Given the description of an element on the screen output the (x, y) to click on. 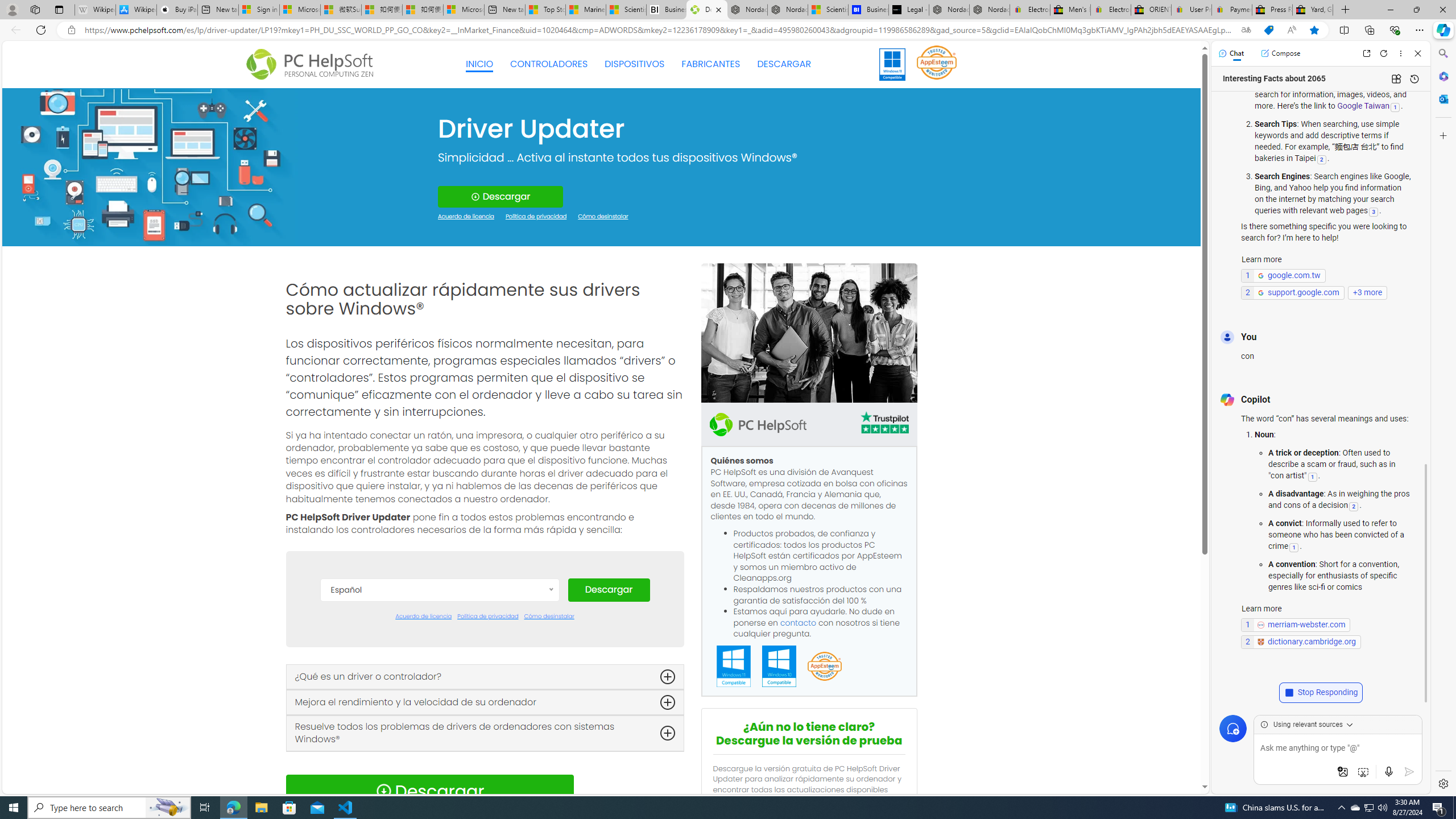
Acuerdo de licencia (423, 615)
Wikipedia - Sleeping (94, 9)
